Given the description of an element on the screen output the (x, y) to click on. 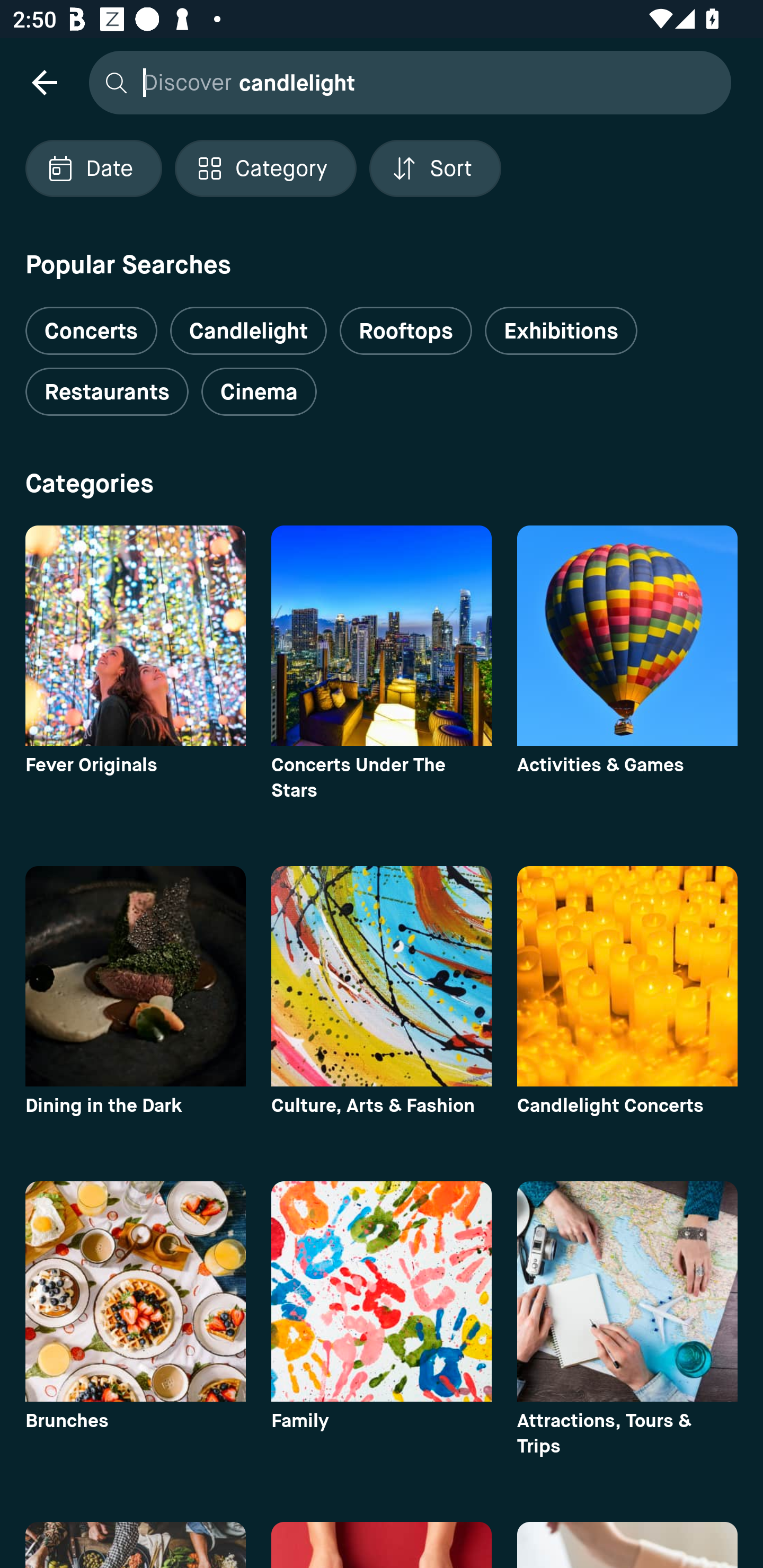
navigation icon (44, 81)
Discover candlelight (405, 81)
Localized description Date (93, 168)
Localized description Category (265, 168)
Localized description Sort (435, 168)
Concerts (91, 323)
Candlelight (248, 330)
Rooftops (405, 330)
Exhibitions (560, 330)
Restaurants (106, 391)
Cinema (258, 391)
category image (135, 635)
category image (381, 635)
category image (627, 635)
category image (135, 975)
category image (381, 975)
category image (627, 975)
category image (135, 1290)
category image (381, 1290)
category image (627, 1290)
